Given the description of an element on the screen output the (x, y) to click on. 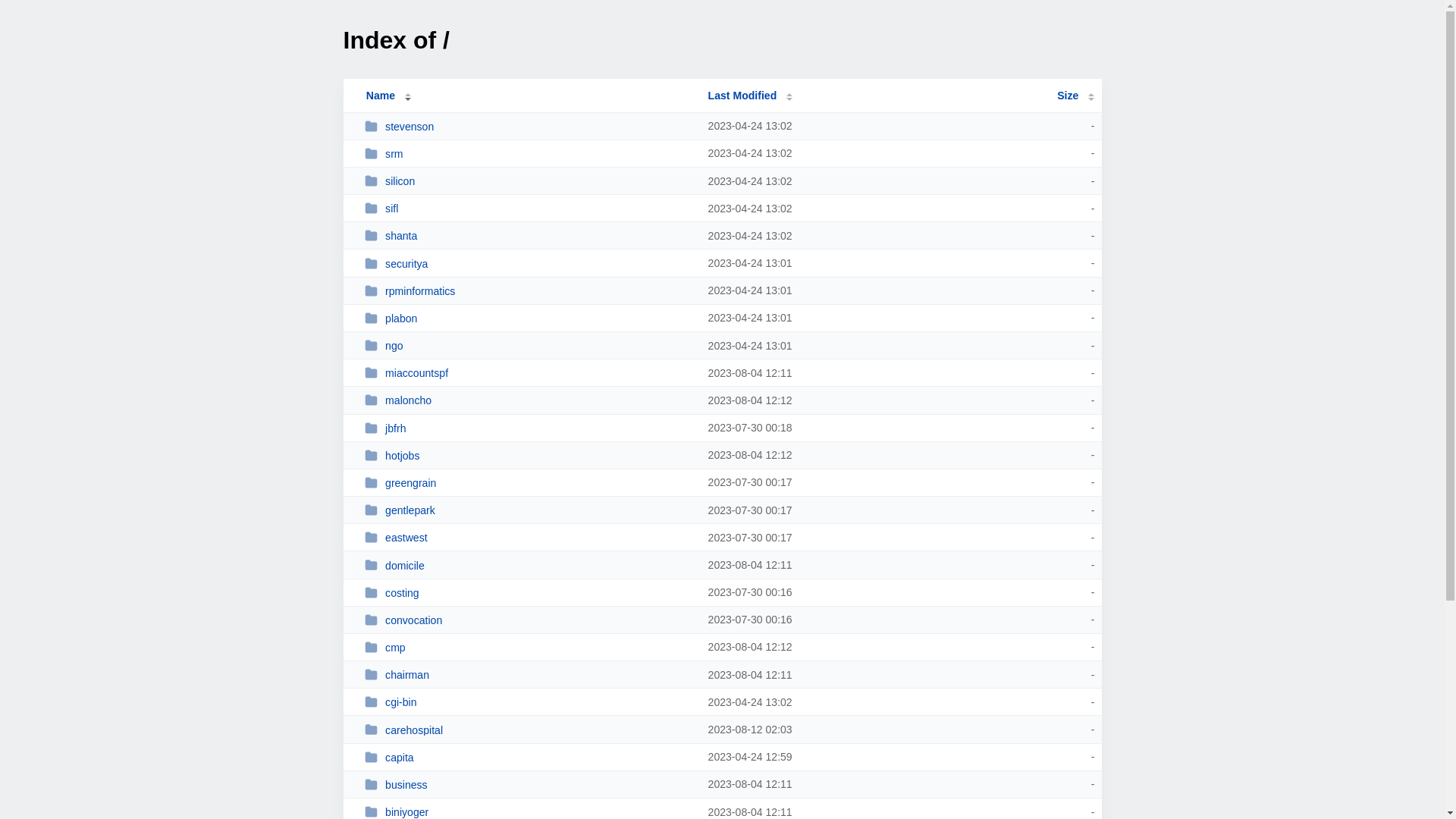
shanta Element type: text (529, 235)
miaccountspf Element type: text (529, 372)
maloncho Element type: text (529, 399)
cmp Element type: text (529, 646)
rpminformatics Element type: text (529, 290)
greengrain Element type: text (529, 482)
Name Element type: text (380, 95)
sifl Element type: text (529, 207)
domicile Element type: text (529, 564)
silicon Element type: text (529, 180)
gentlepark Element type: text (529, 509)
stevenson Element type: text (529, 125)
plabon Element type: text (529, 317)
convocation Element type: text (529, 619)
srm Element type: text (529, 153)
Size Element type: text (1075, 95)
eastwest Element type: text (529, 536)
biniyoger Element type: text (529, 811)
cgi-bin Element type: text (529, 701)
Last Modified Element type: text (750, 95)
costing Element type: text (529, 592)
ngo Element type: text (529, 344)
hotjobs Element type: text (529, 454)
chairman Element type: text (529, 674)
capita Element type: text (529, 756)
jbfrh Element type: text (529, 427)
securitya Element type: text (529, 263)
business Element type: text (529, 784)
carehospital Element type: text (529, 729)
